Given the description of an element on the screen output the (x, y) to click on. 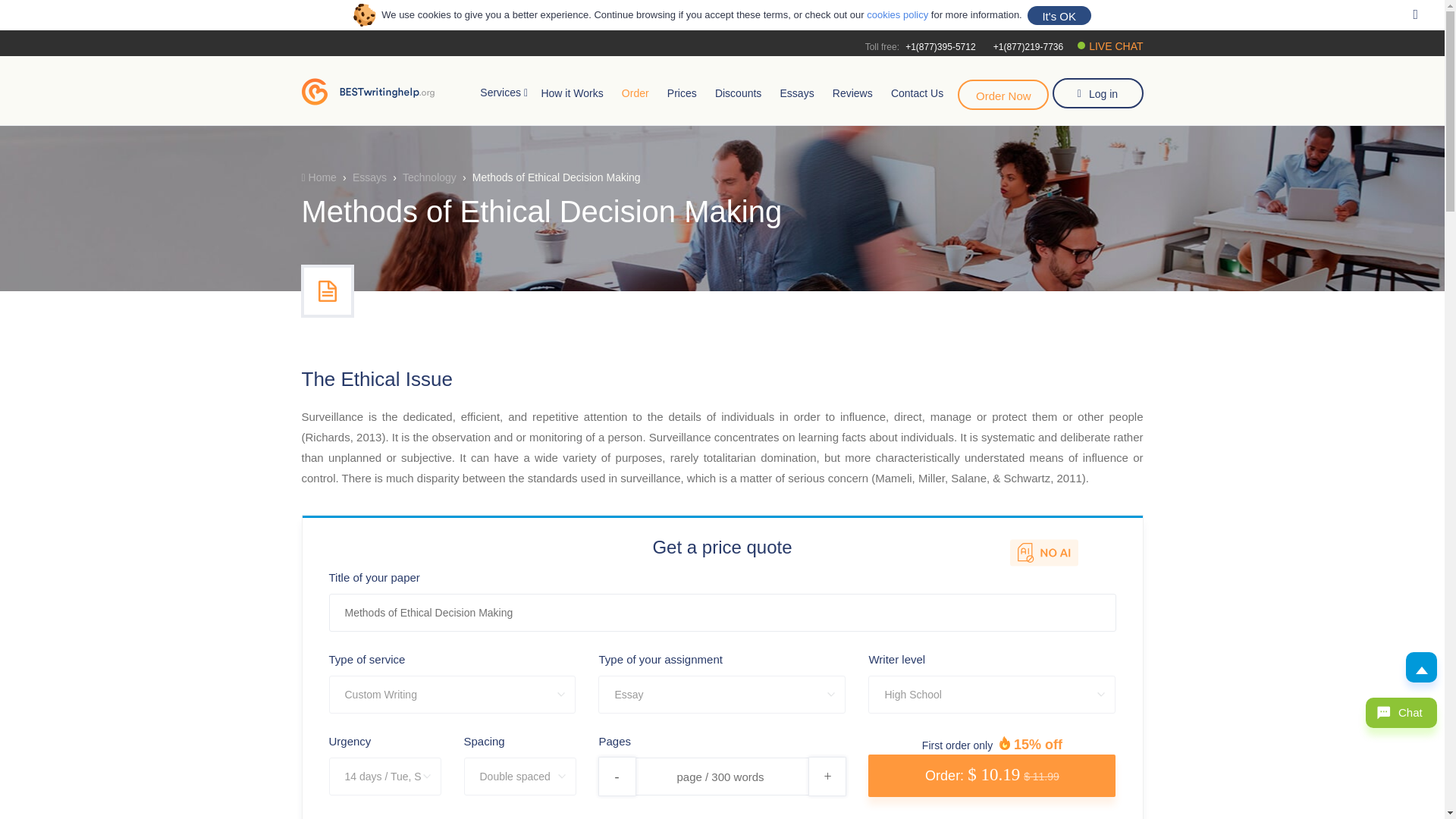
Plus (826, 776)
Minus (615, 776)
Methods of Ethical Decision Making (722, 612)
